Given the description of an element on the screen output the (x, y) to click on. 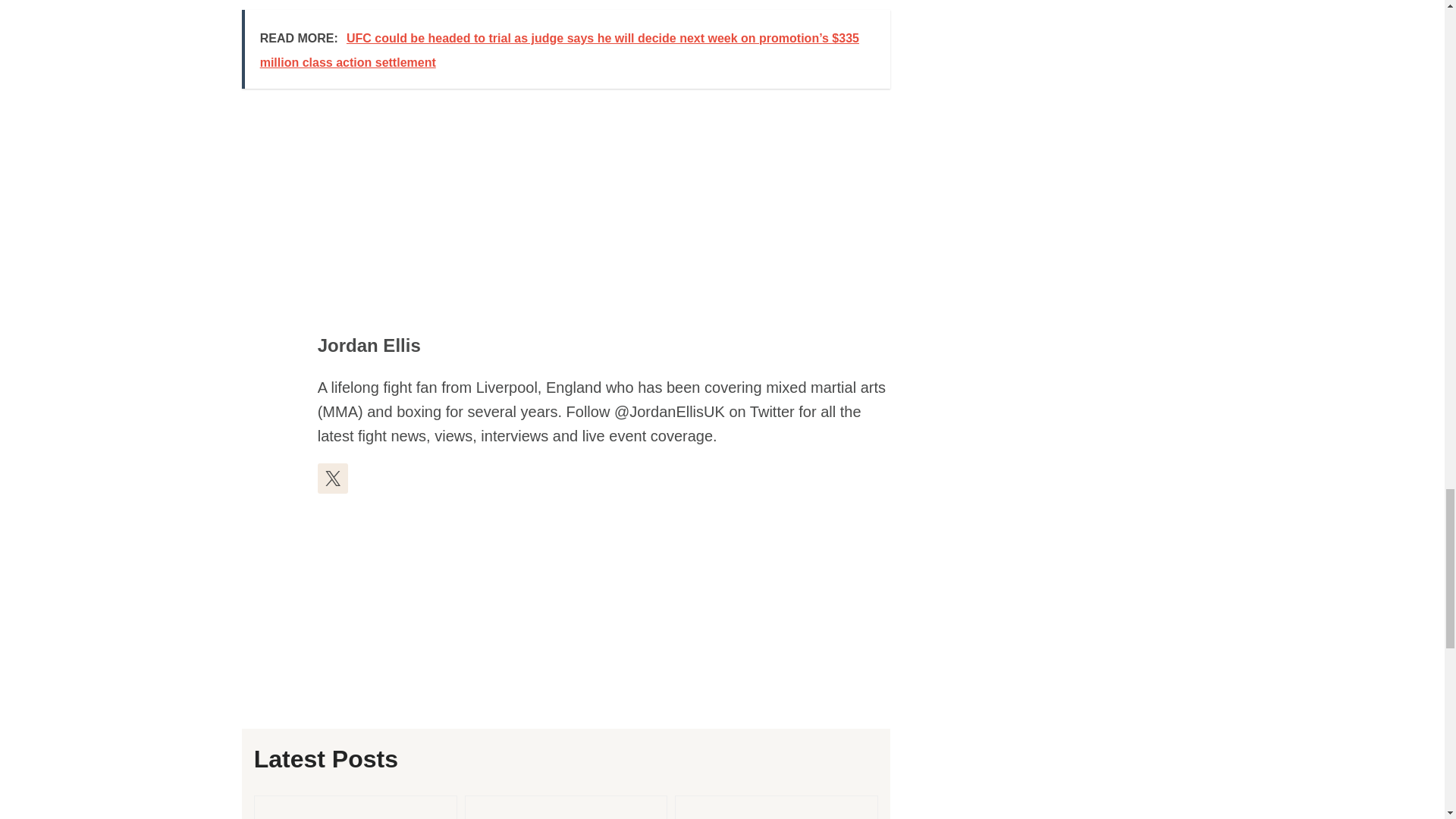
Follow Jordan Ellis on X formerly Twitter (332, 478)
Posts by Jordan Ellis (368, 344)
